Given the description of an element on the screen output the (x, y) to click on. 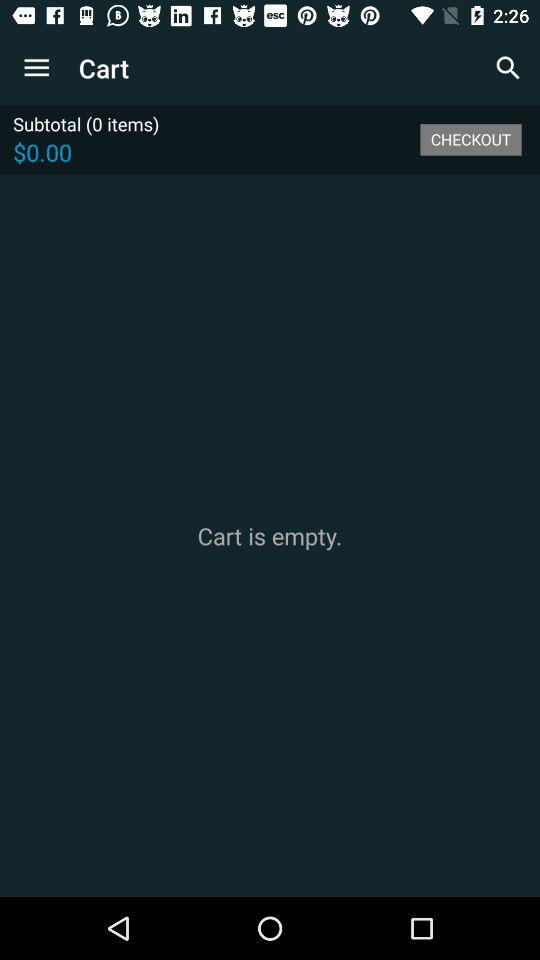
turn off the app to the right of cart (508, 67)
